Given the description of an element on the screen output the (x, y) to click on. 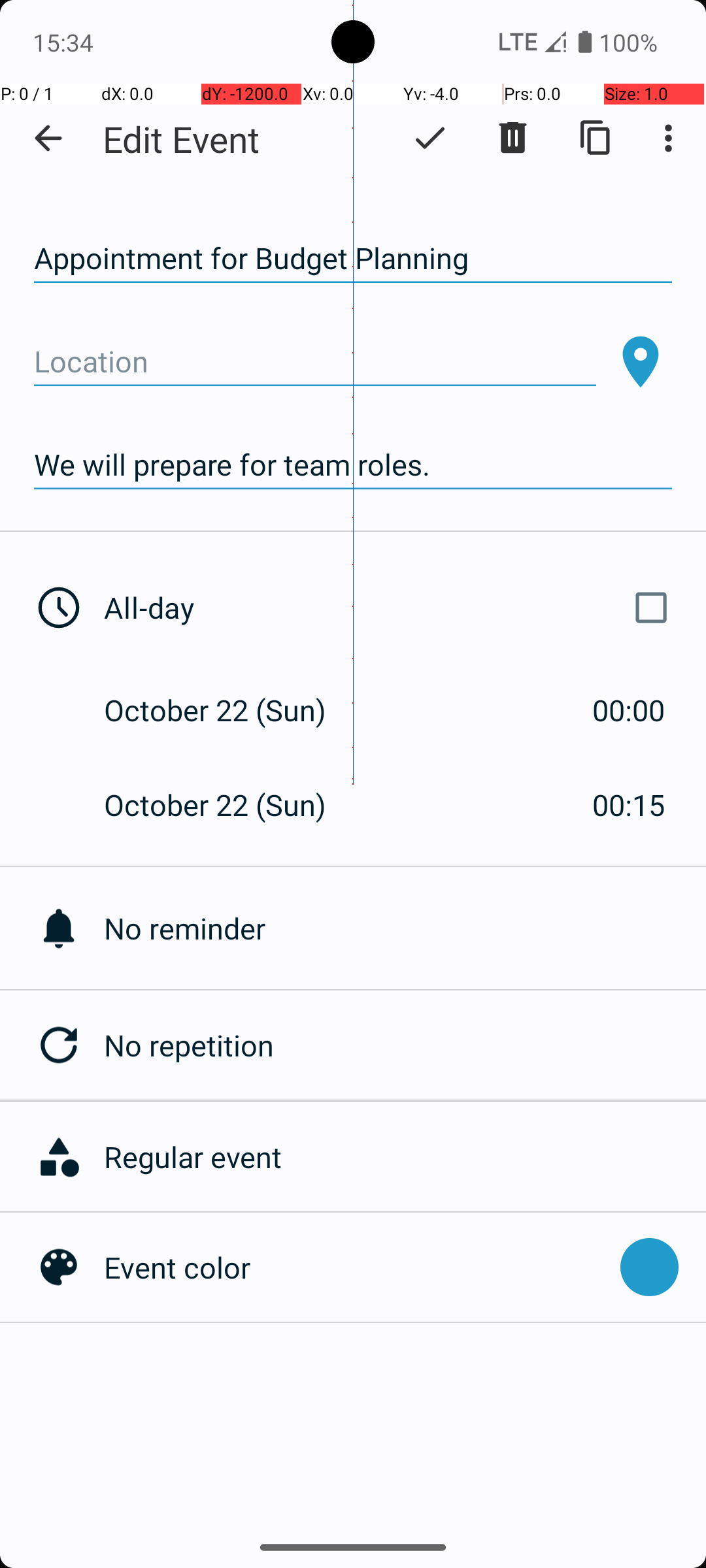
We will prepare for team roles. Element type: android.widget.EditText (352, 465)
October 22 (Sun) Element type: android.widget.TextView (228, 709)
00:00 Element type: android.widget.TextView (628, 709)
00:15 Element type: android.widget.TextView (628, 804)
